Given the description of an element on the screen output the (x, y) to click on. 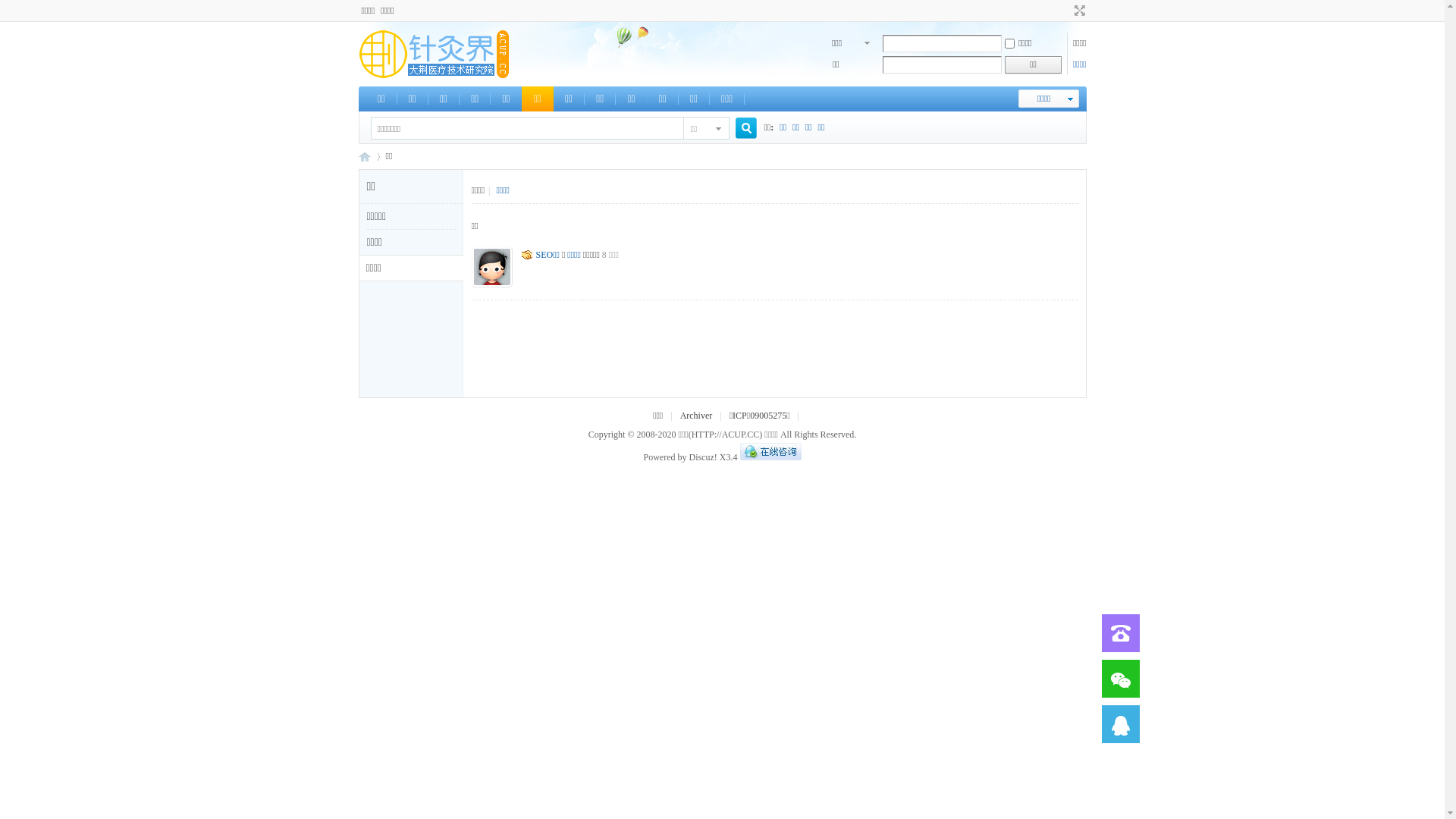
Archiver Element type: text (696, 415)
Discuz! Element type: text (702, 456)
QQ Element type: hover (770, 456)
true Element type: text (740, 128)
